Given the description of an element on the screen output the (x, y) to click on. 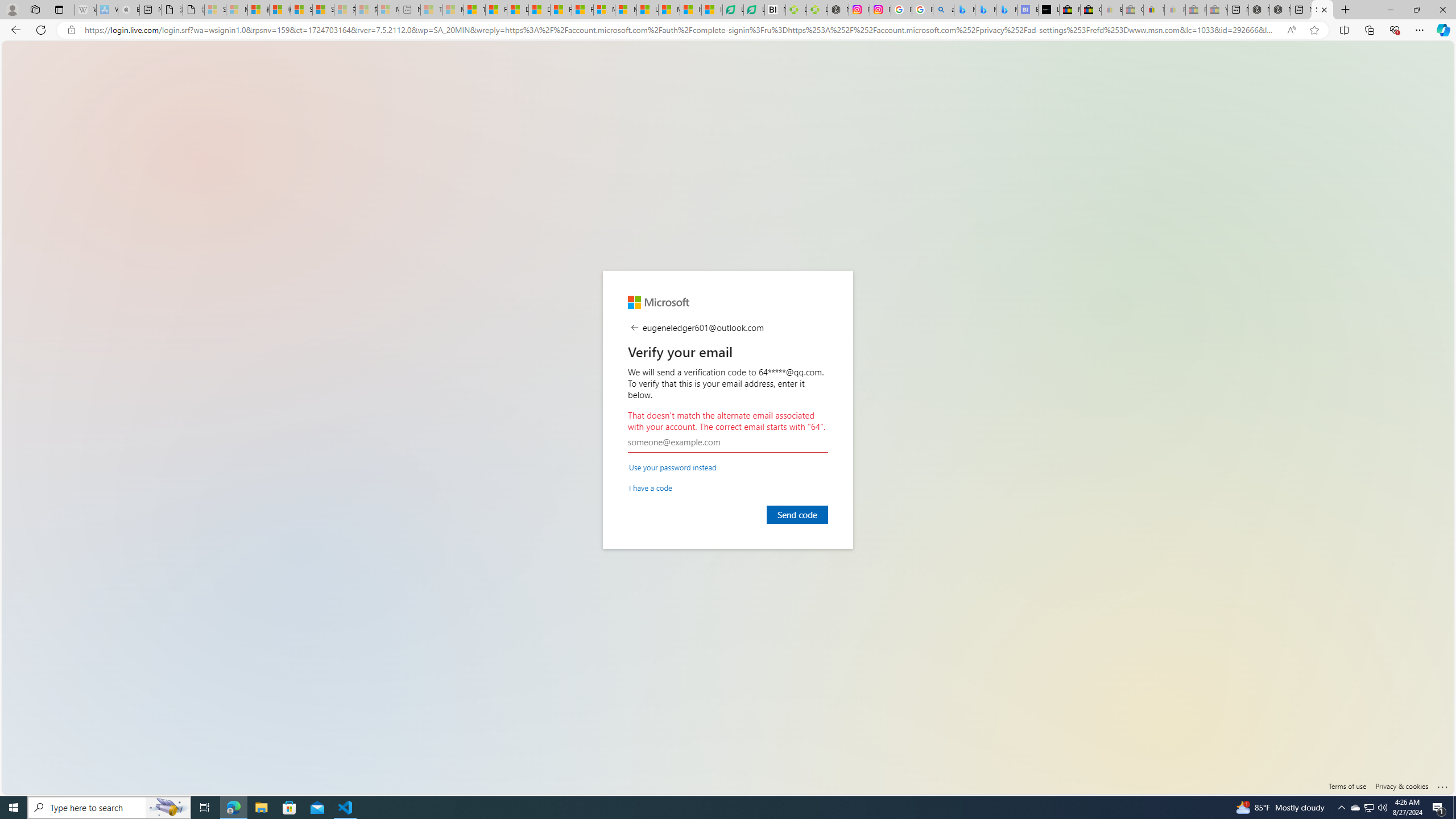
Use your password instead (672, 466)
Email (727, 441)
Privacy & cookies (1401, 785)
